Given the description of an element on the screen output the (x, y) to click on. 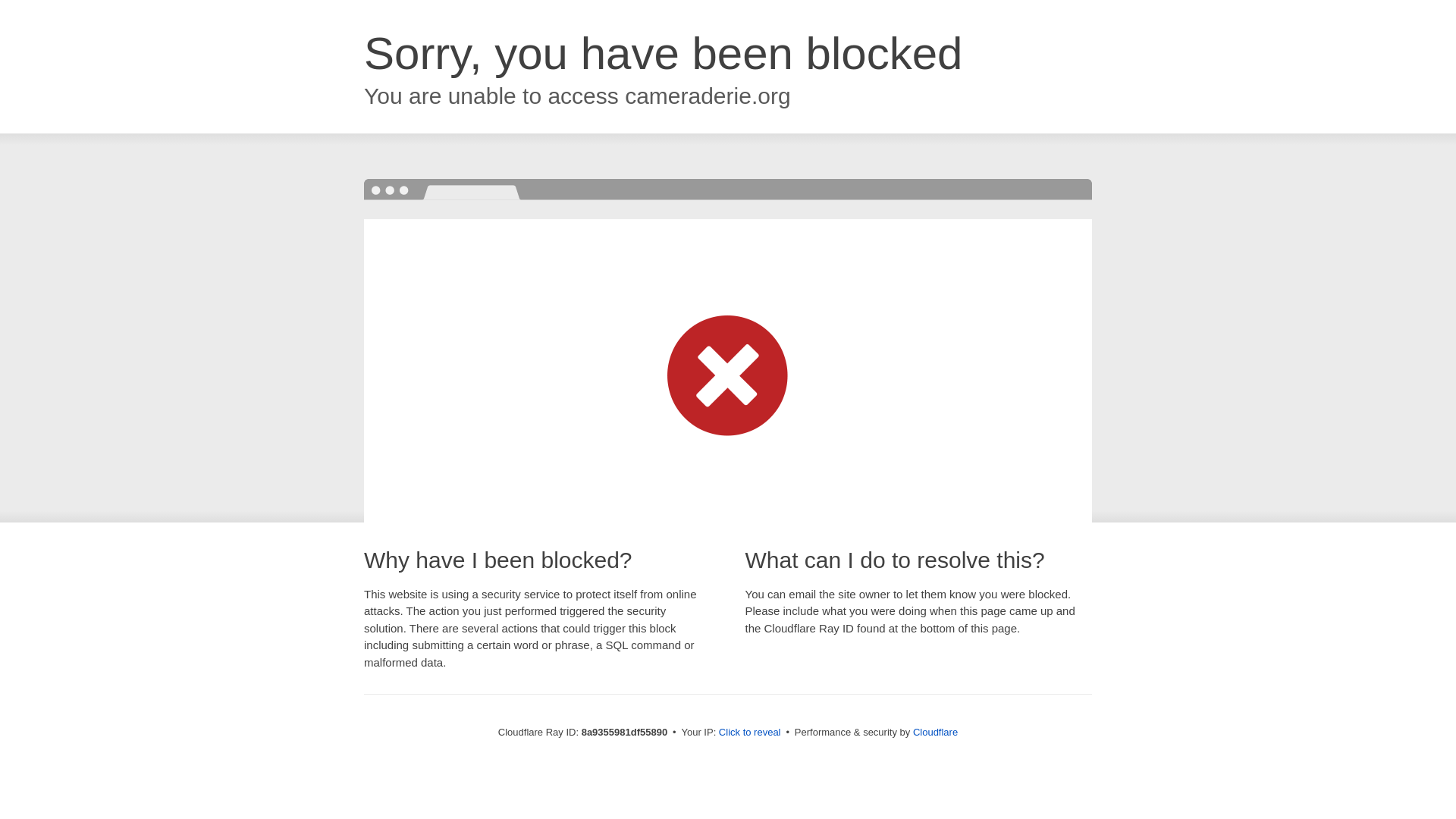
Click to reveal (749, 732)
Cloudflare (935, 731)
